Given the description of an element on the screen output the (x, y) to click on. 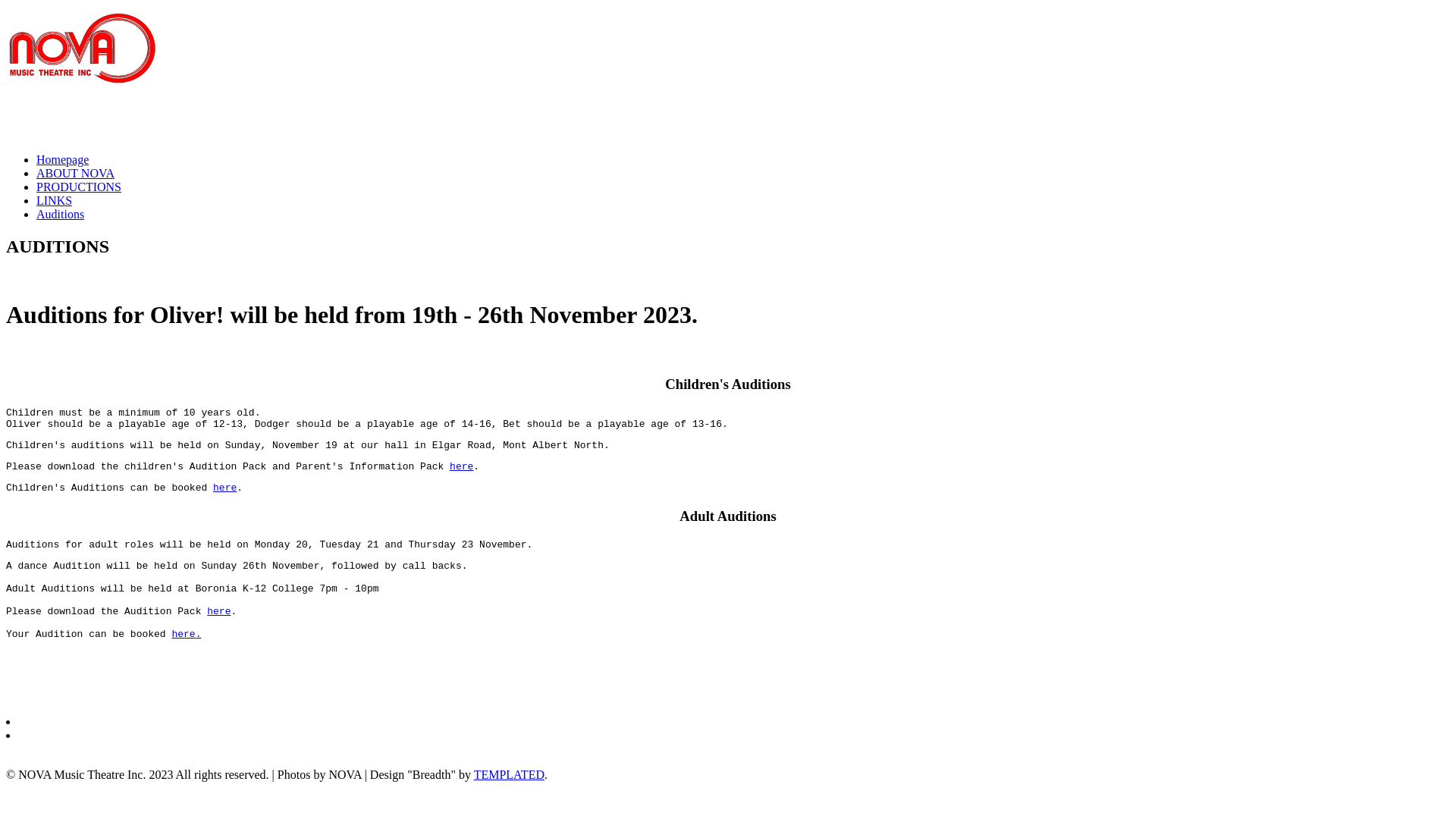
here. Element type: text (185, 634)
here Element type: text (224, 487)
LINKS Element type: text (54, 200)
ABOUT NOVA Element type: text (75, 172)
here Element type: text (461, 466)
Homepage Element type: text (62, 159)
here Element type: text (218, 611)
PRODUCTIONS Element type: text (78, 186)
TEMPLATED Element type: text (508, 774)
Auditions Element type: text (60, 213)
